Given the description of an element on the screen output the (x, y) to click on. 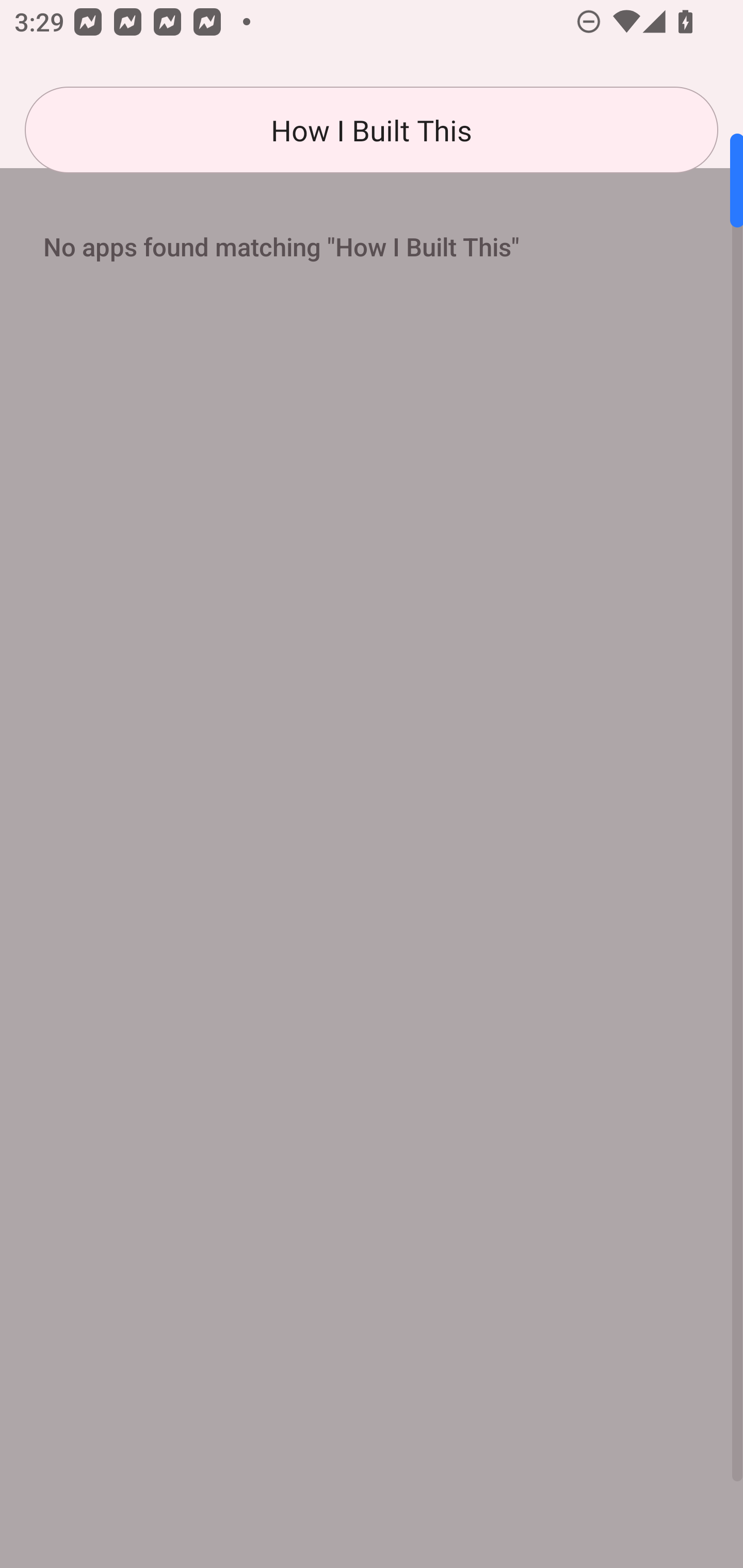
How I Built This (371, 130)
